Given the description of an element on the screen output the (x, y) to click on. 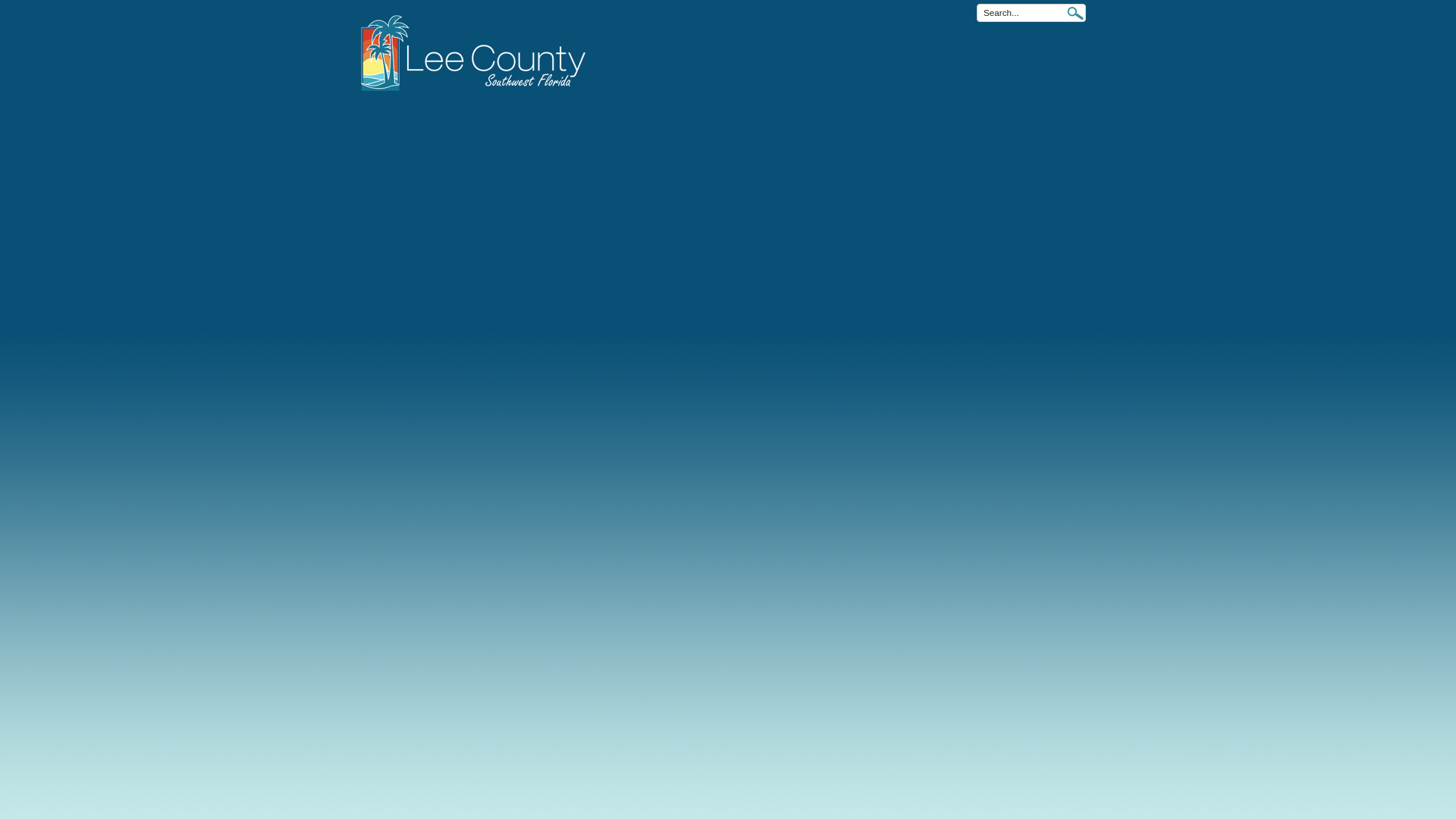
Search... (1031, 13)
Search... (1031, 13)
Search (1074, 12)
Home (483, 52)
Home (24, 10)
